Given the description of an element on the screen output the (x, y) to click on. 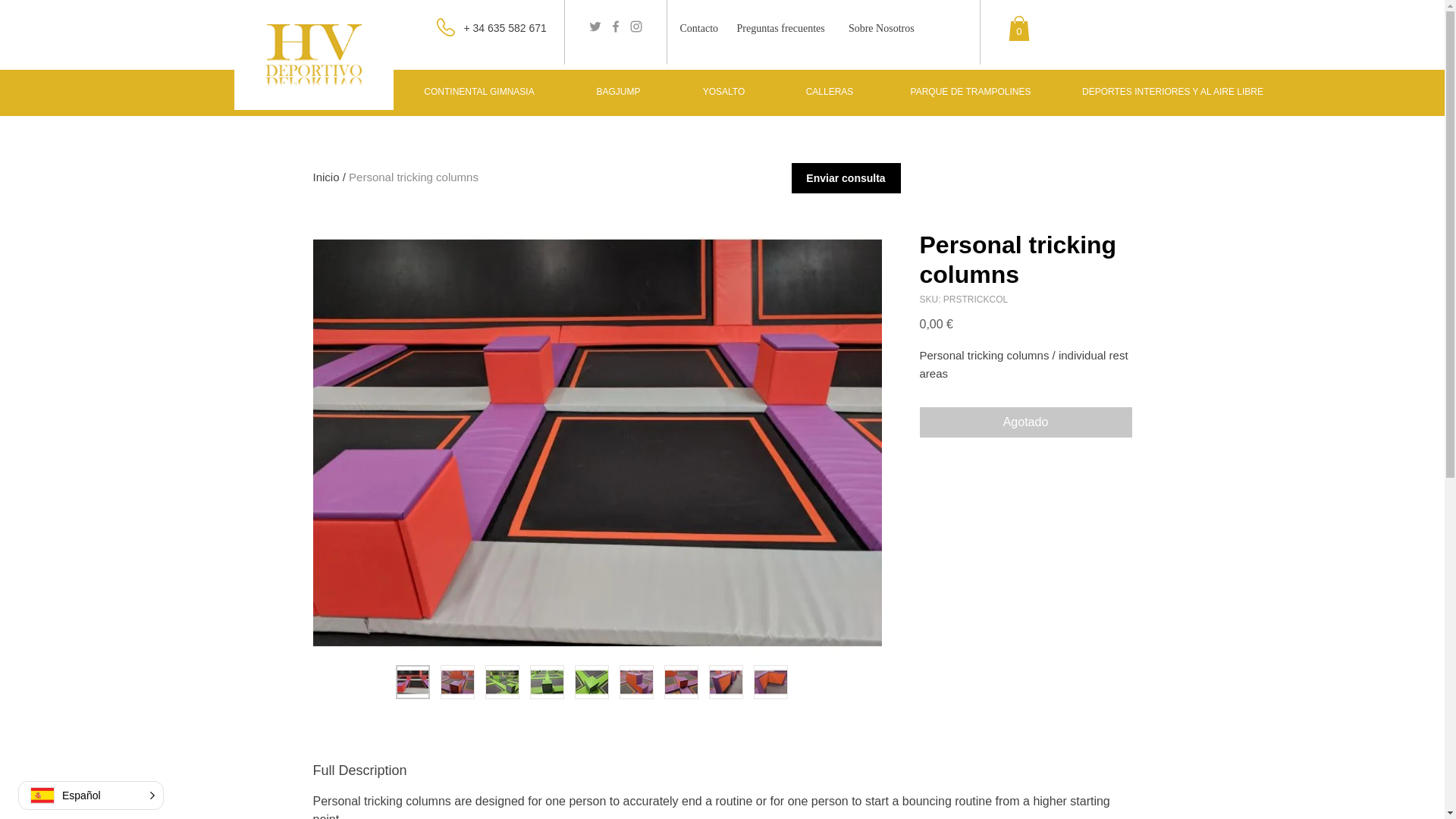
DEPORTES INTERIORES Y AL AIRE LIBRE (1172, 91)
PARQUE DE TRAMPOLINES (970, 91)
CONTINENTAL GIMNASIA (478, 91)
BAGJUMP (618, 91)
YOSALTO (723, 91)
CALLERAS (829, 91)
